Given the description of an element on the screen output the (x, y) to click on. 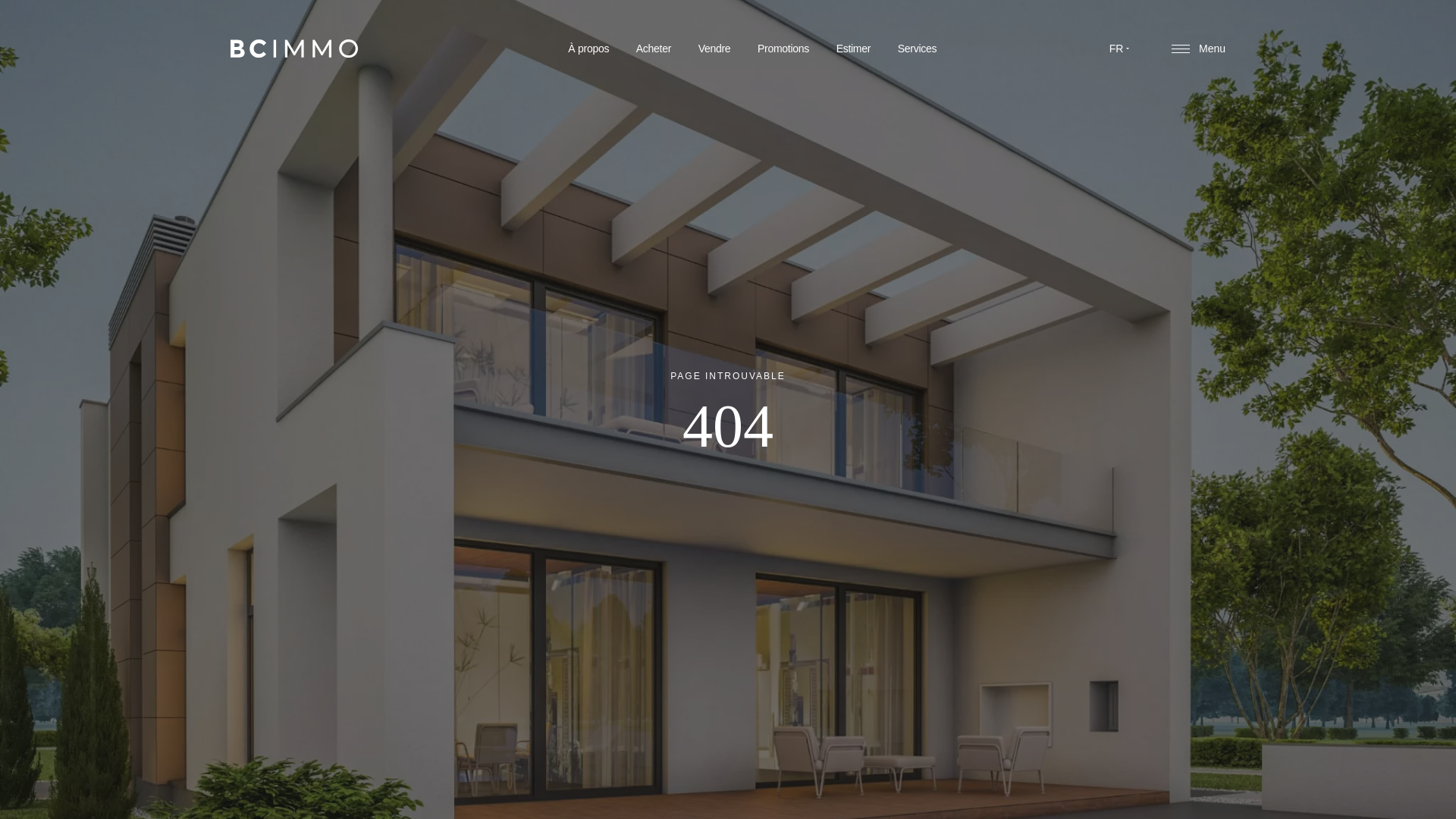
Services Element type: text (916, 51)
Estimer Element type: text (853, 49)
Acheter Element type: text (653, 48)
Submit Element type: hover (1194, 678)
Promotions Element type: text (783, 48)
Vendre Element type: text (714, 48)
